Given the description of an element on the screen output the (x, y) to click on. 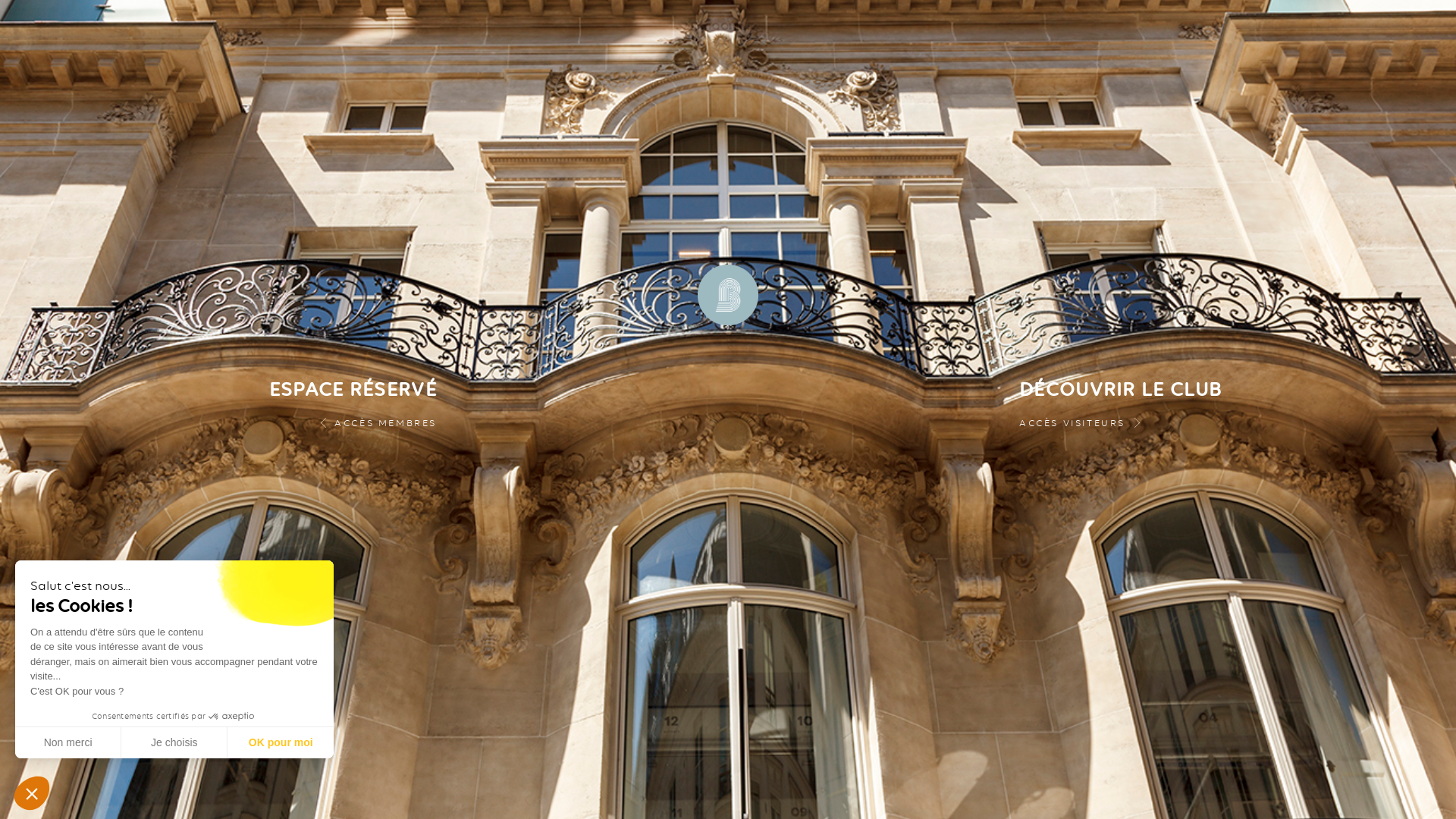
Fermer le widget sans consentement Element type: hover (31, 793)
Je choisis Element type: text (174, 742)
Non merci Element type: text (68, 742)
OK pour moi Element type: text (280, 742)
